Given the description of an element on the screen output the (x, y) to click on. 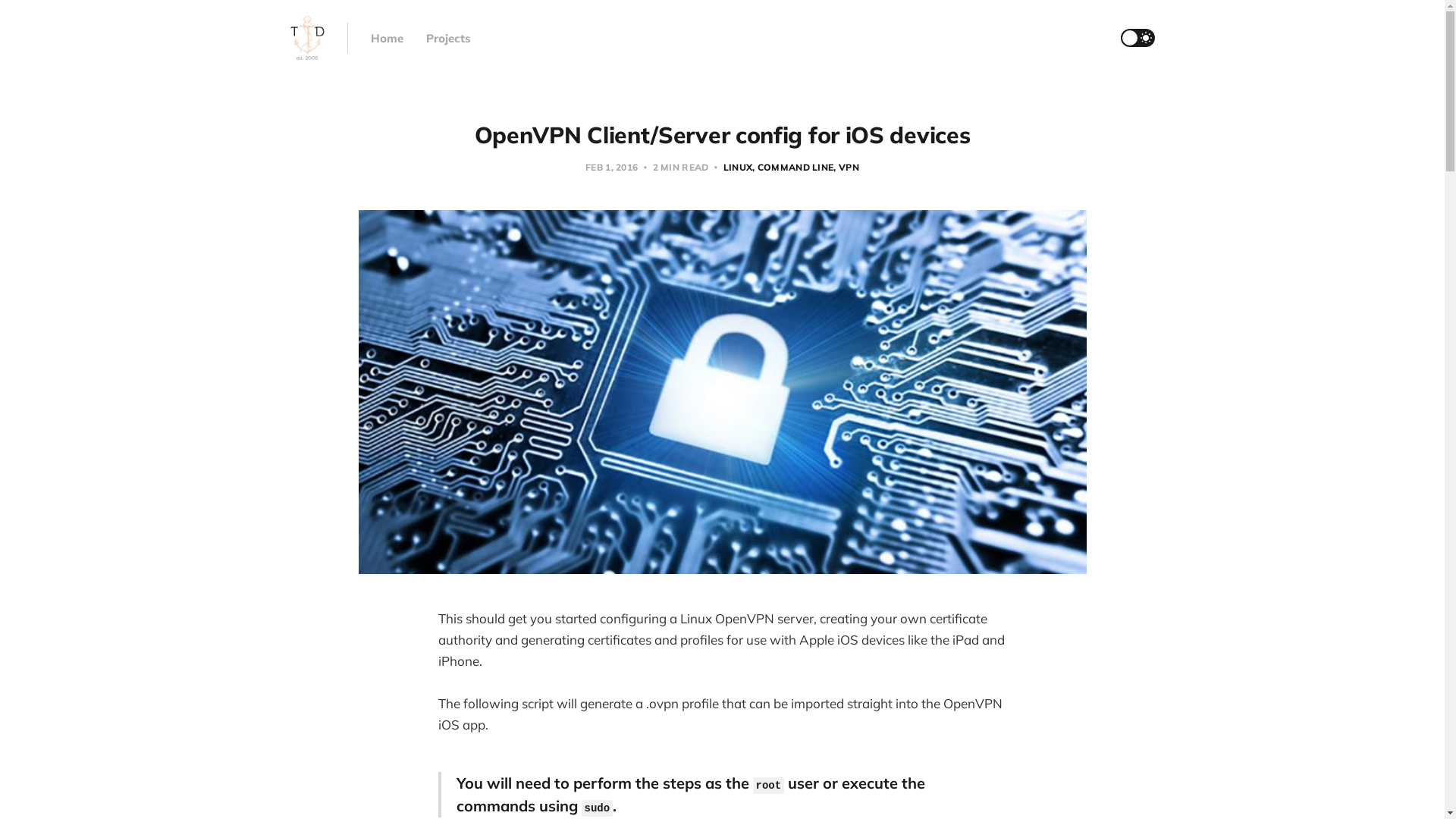
VPN Element type: text (846, 166)
LINUX Element type: text (738, 166)
Projects Element type: text (448, 37)
Home Element type: text (386, 37)
COMMAND LINE Element type: text (792, 166)
